Given the description of an element on the screen output the (x, y) to click on. 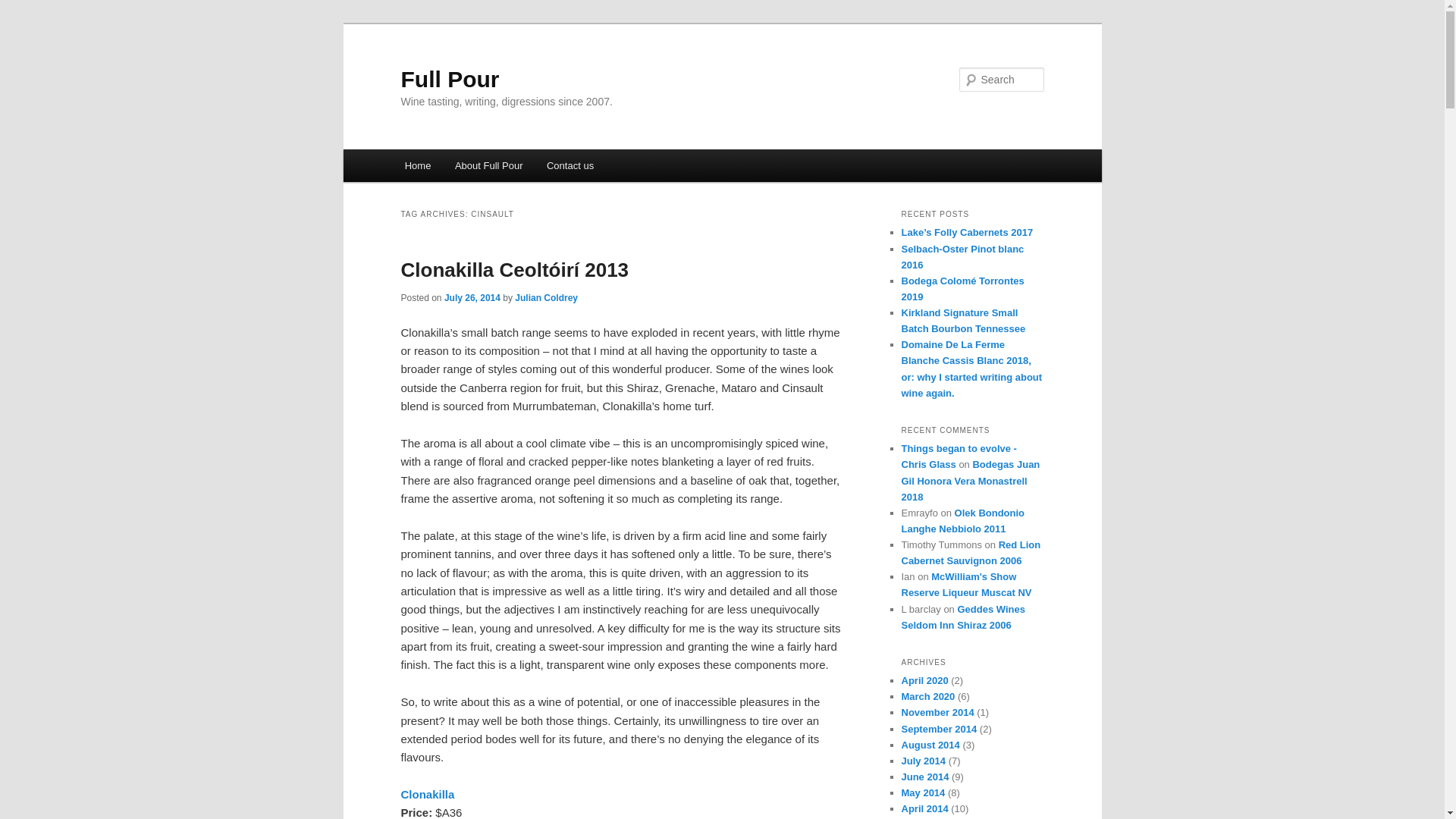
About Full Pour (488, 165)
Julian Coldrey (546, 297)
Contact us (569, 165)
Full Pour (449, 78)
Home (417, 165)
View all posts by Julian Coldrey (546, 297)
Search (24, 8)
July 26, 2014 (472, 297)
1:44 pm (472, 297)
